Given the description of an element on the screen output the (x, y) to click on. 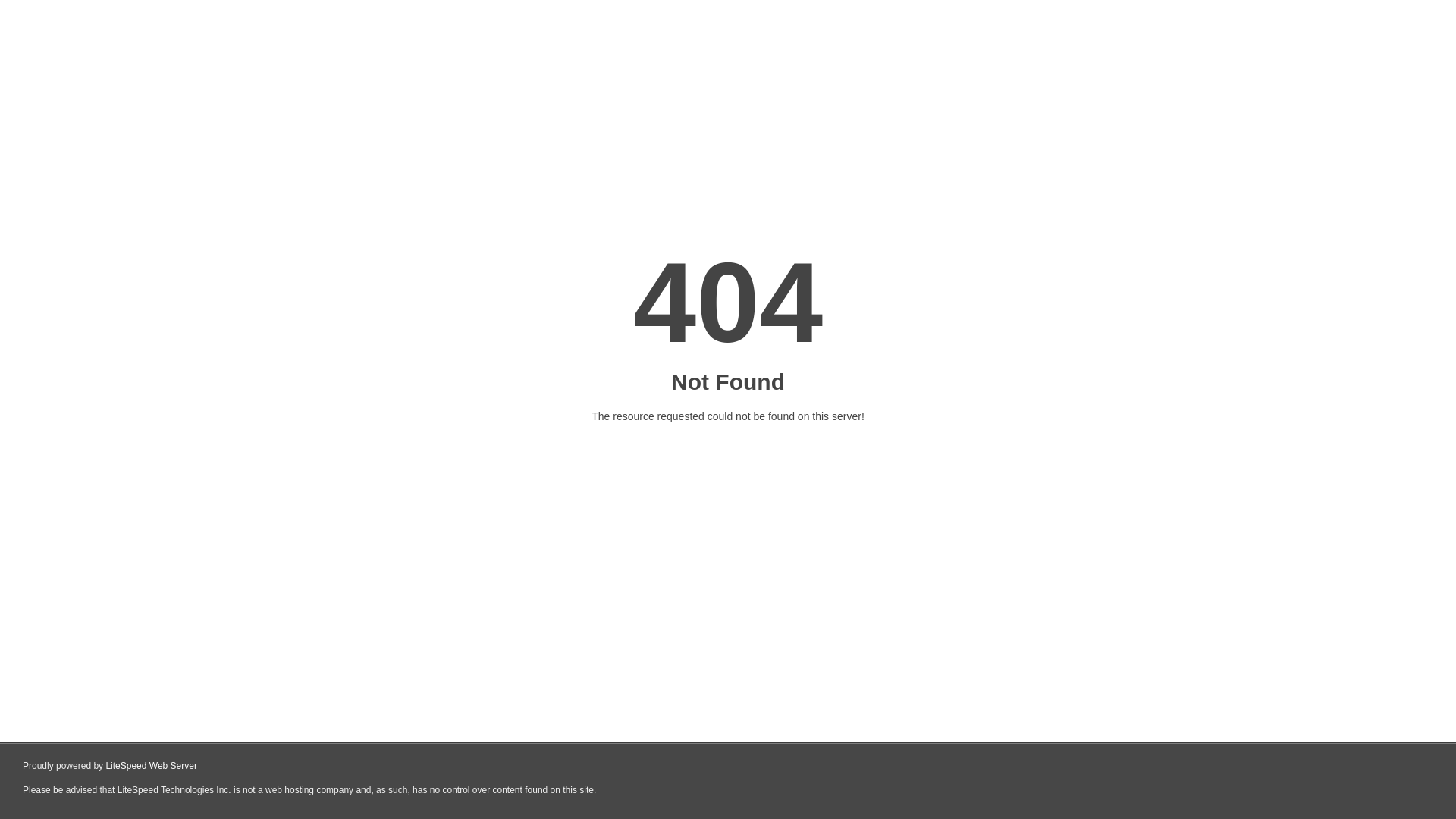
LiteSpeed Web Server Element type: text (151, 765)
